Given the description of an element on the screen output the (x, y) to click on. 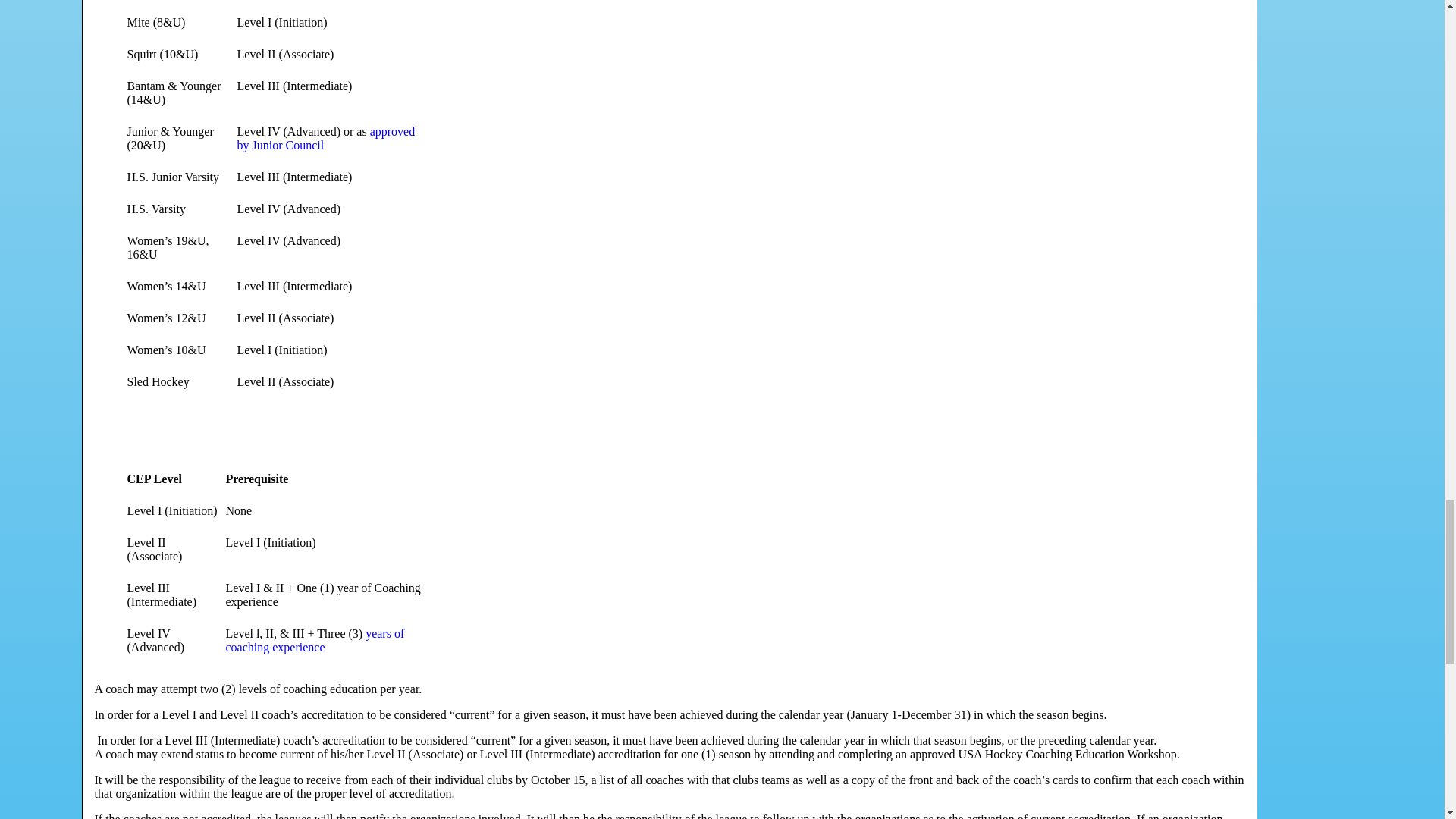
years of coaching experience (314, 640)
approved by Junior Council (324, 138)
